Given the description of an element on the screen output the (x, y) to click on. 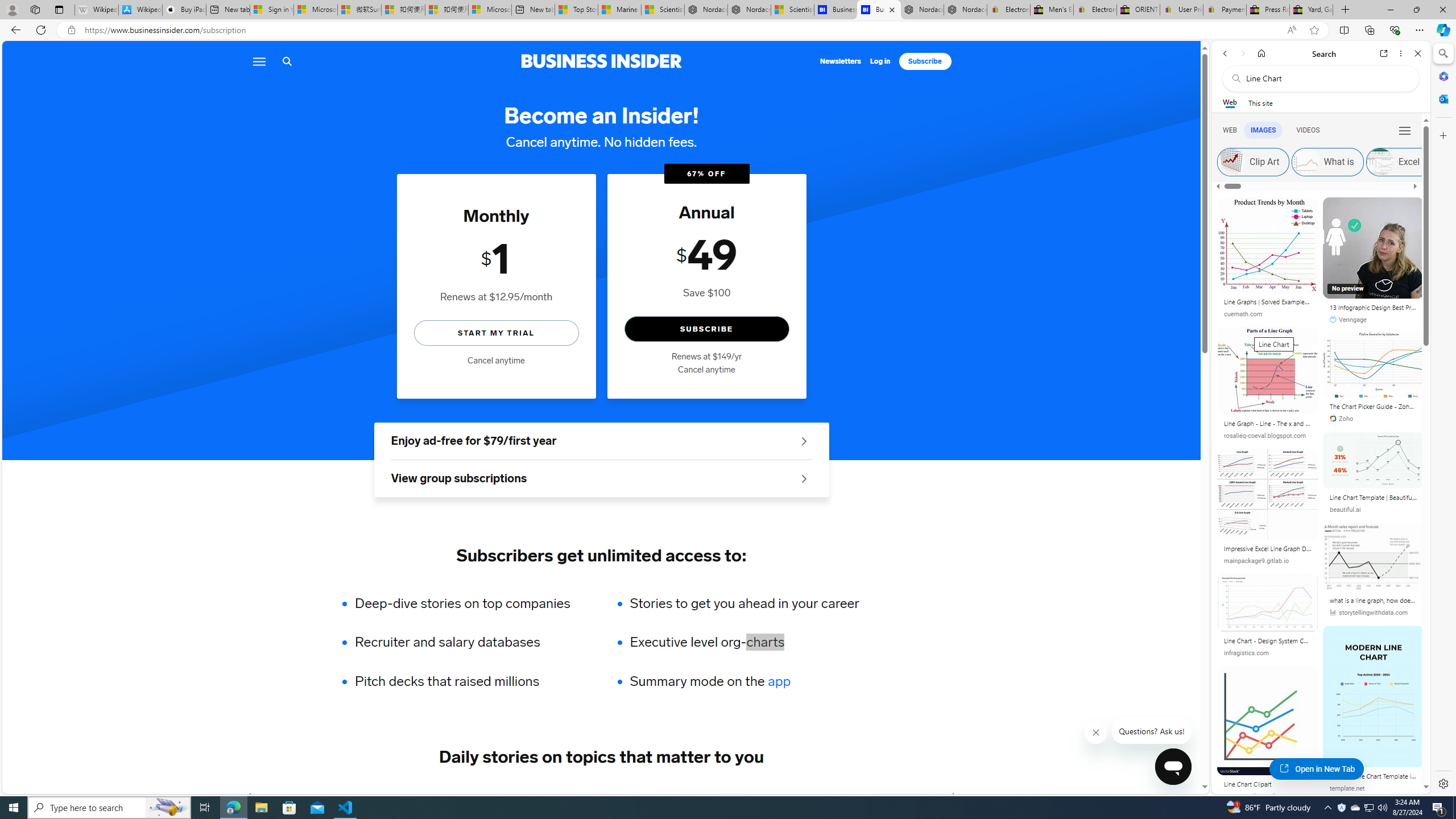
FINANCE (485, 796)
Line Graph - Line - The x and y axis are used to. (1267, 425)
MEDIA (953, 796)
infragistics.com (1246, 652)
Buy iPad - Apple (184, 9)
Line Chart - Design System Component (1267, 642)
See group offers (803, 478)
Cancel anytime (706, 369)
Microsoft Services Agreement (315, 9)
